Given the description of an element on the screen output the (x, y) to click on. 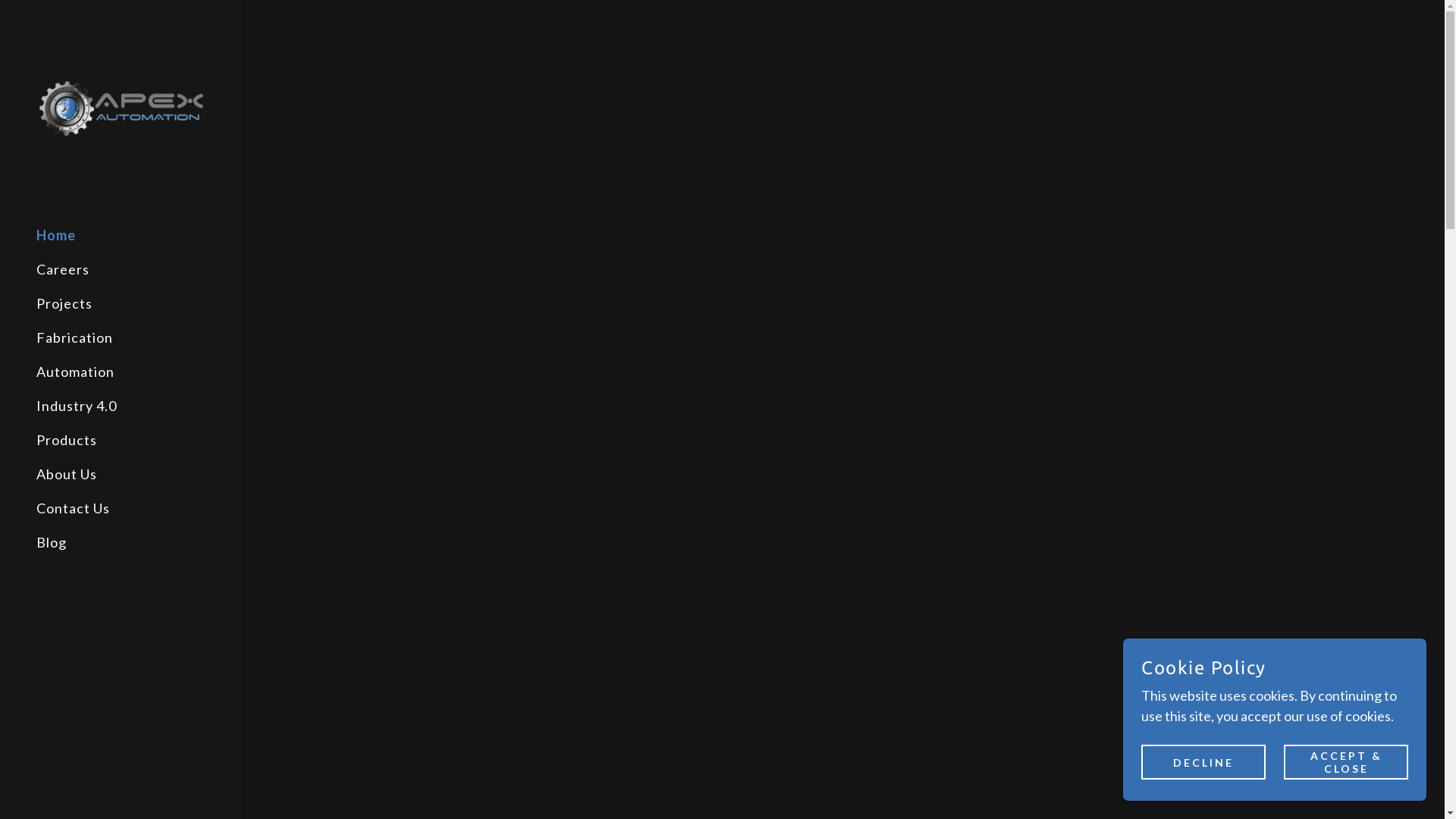
Contact Us Element type: text (72, 507)
Products Element type: text (66, 439)
Home Element type: text (55, 234)
Careers Element type: text (62, 268)
Fabrication Element type: text (74, 337)
Blog Element type: text (51, 541)
Projects Element type: text (64, 302)
Apex Automation Element type: hover (121, 105)
ACCEPT & CLOSE Element type: text (1345, 761)
Automation Element type: text (75, 371)
Industry 4.0 Element type: text (76, 405)
About Us Element type: text (66, 473)
DECLINE Element type: text (1203, 761)
